Given the description of an element on the screen output the (x, y) to click on. 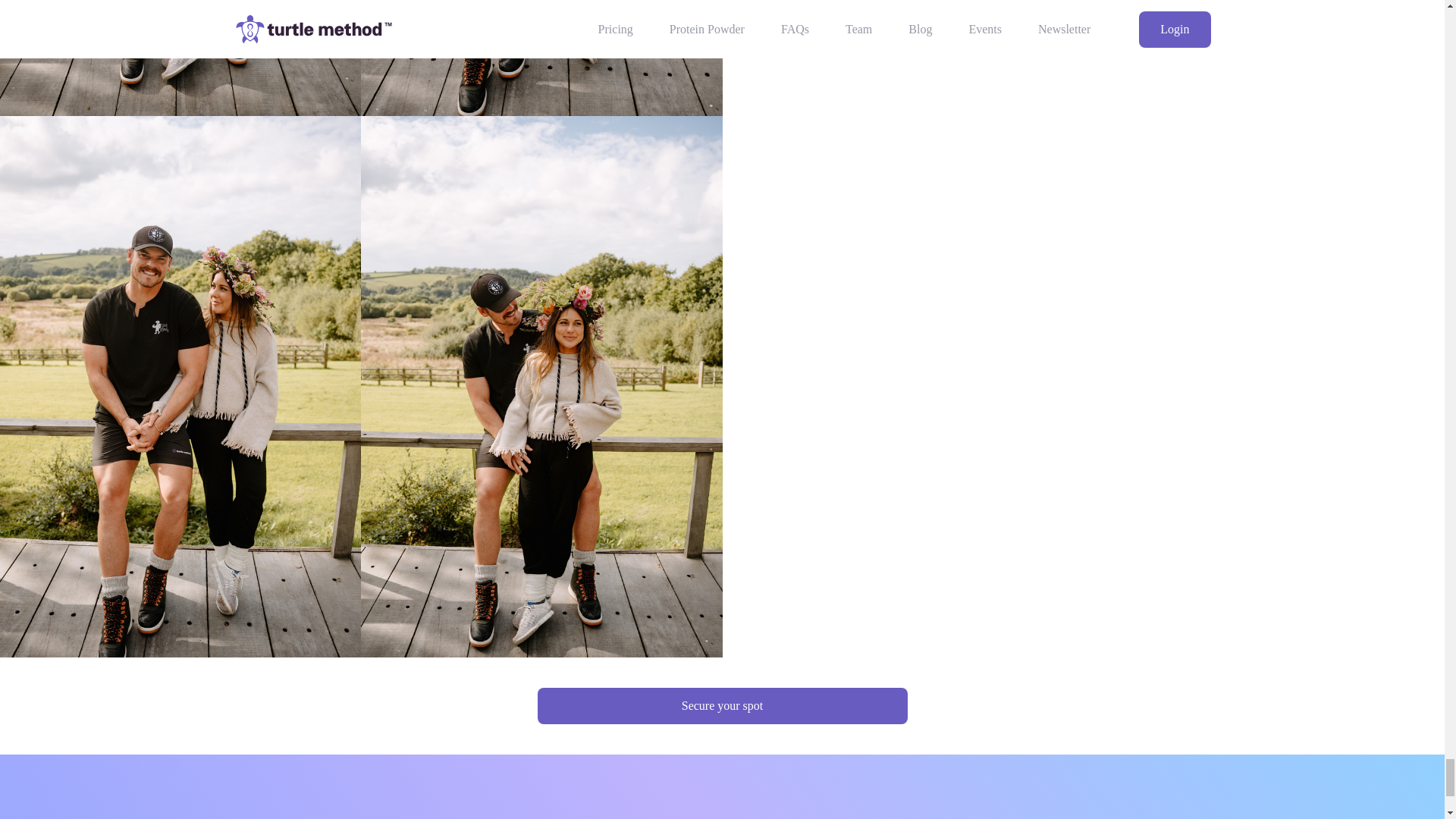
Secure your spot (722, 705)
